Given the description of an element on the screen output the (x, y) to click on. 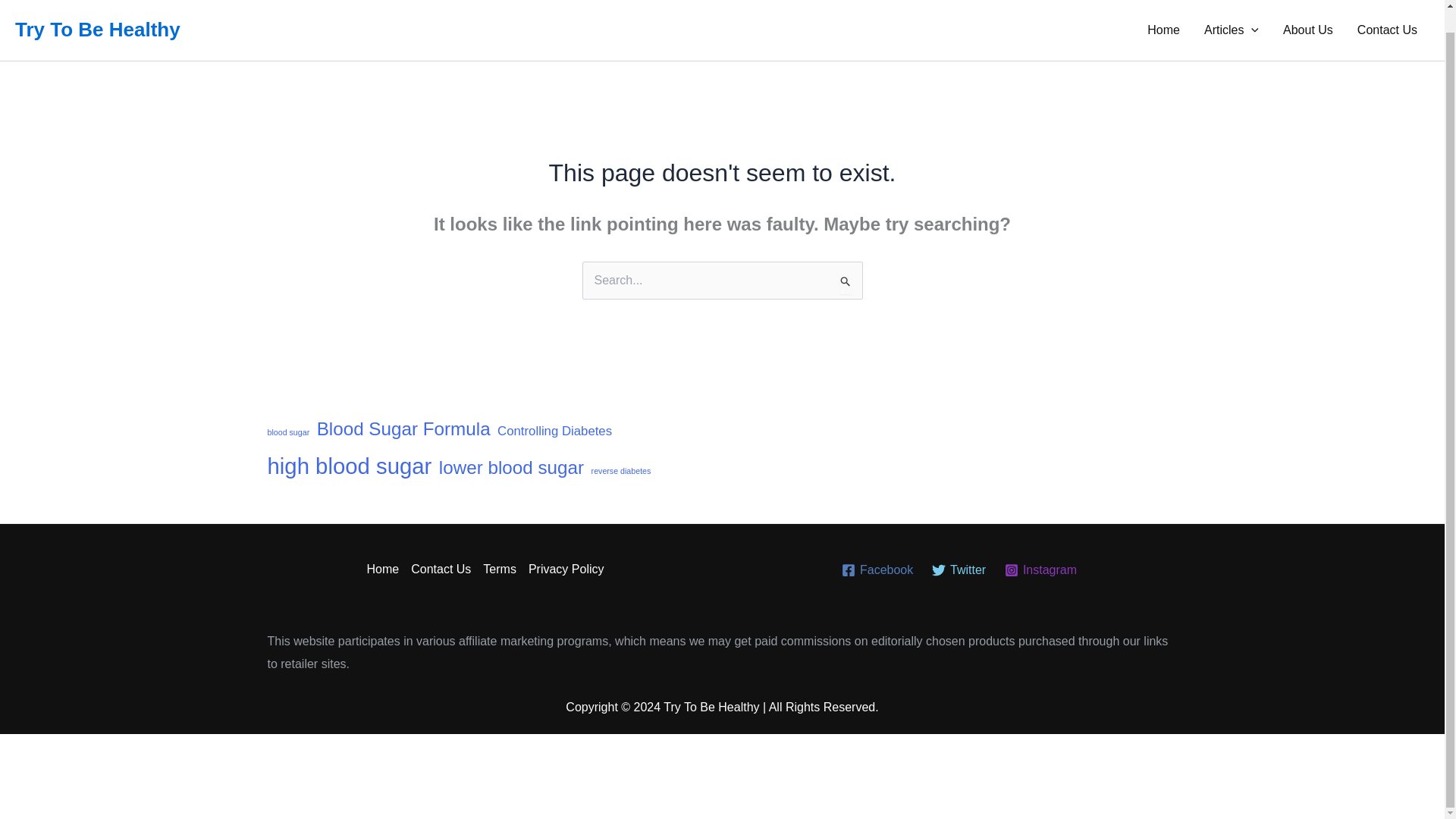
Instagram (1040, 570)
Home (386, 568)
blood sugar (287, 432)
lower blood sugar (511, 467)
reverse diabetes (620, 471)
Articles (1231, 30)
Controlling Diabetes (554, 431)
Blood Sugar Formula (403, 428)
high blood sugar (348, 465)
Facebook (877, 570)
Twitter (959, 570)
Contact Us (1387, 30)
Try To Be Healthy (97, 29)
Privacy Policy (563, 568)
Terms (499, 568)
